Given the description of an element on the screen output the (x, y) to click on. 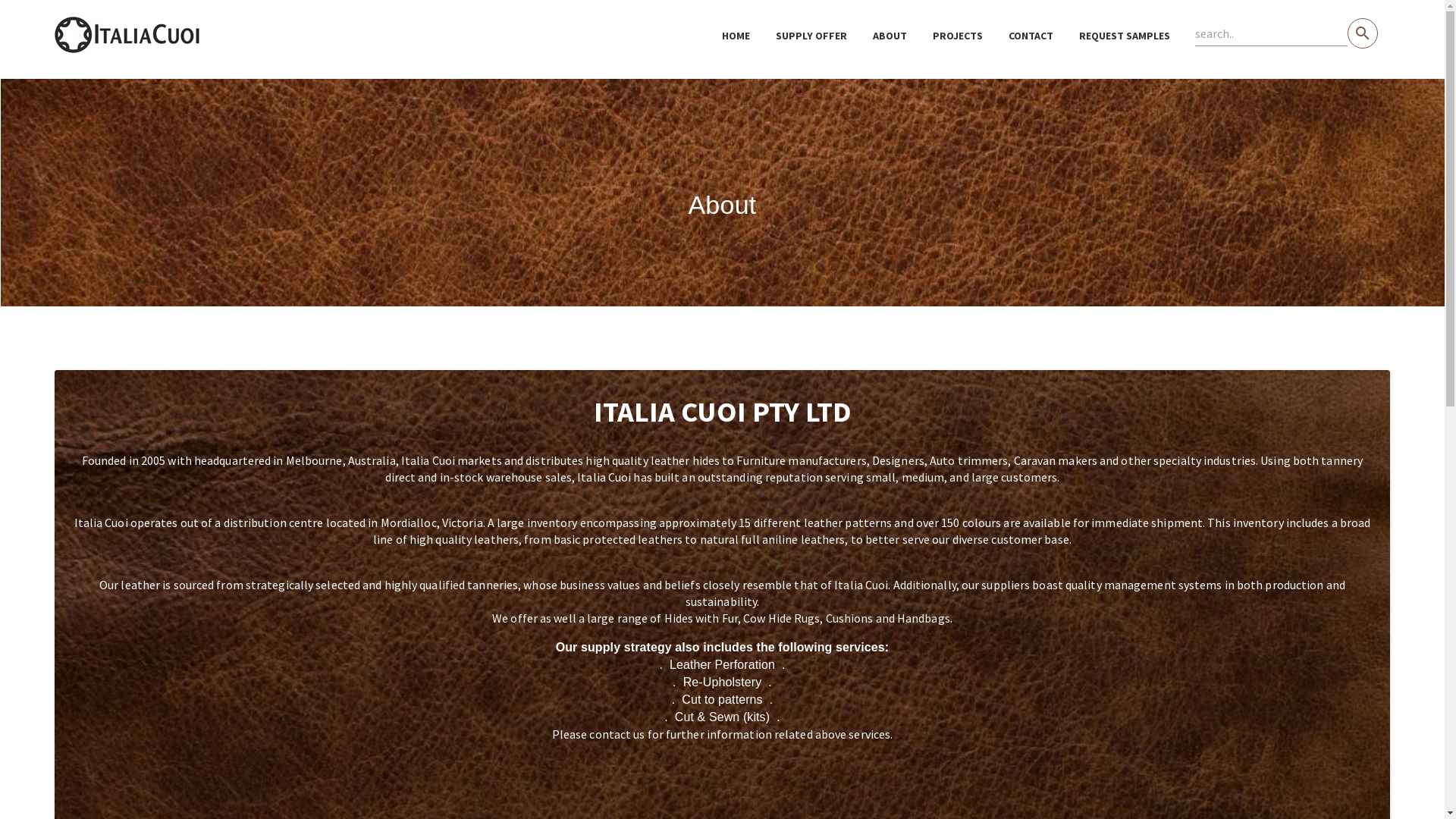
REQUEST SAMPLES Element type: text (1124, 35)
CONTACT Element type: text (1030, 35)
HOME Element type: text (735, 35)
SUPPLY OFFER Element type: text (810, 35)
ABOUT Element type: text (889, 35)
PROJECTS Element type: text (957, 35)
